Given the description of an element on the screen output the (x, y) to click on. 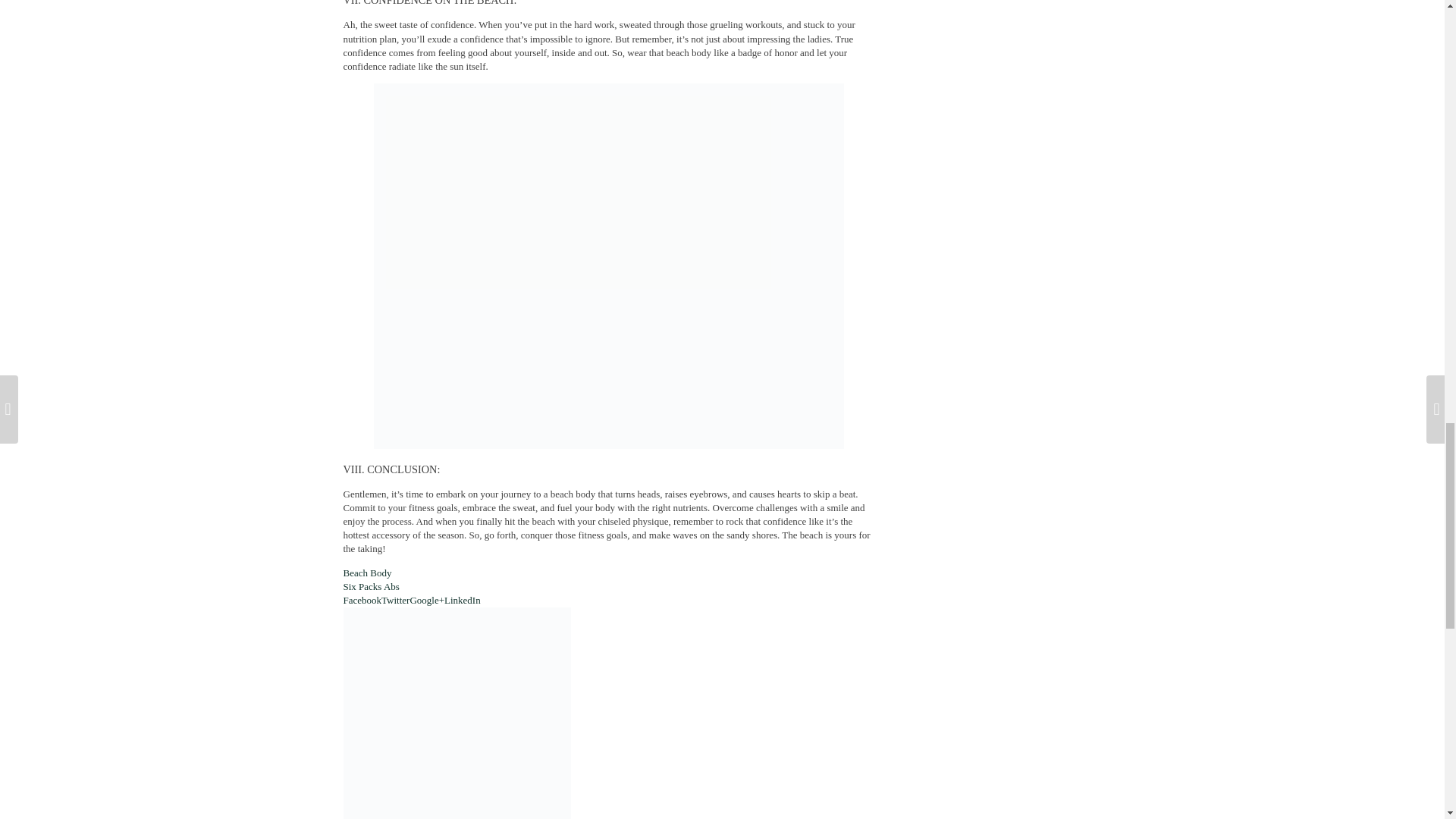
Facebook (361, 600)
Twitter (395, 600)
LinkedIn (462, 600)
Six Packs Abs (370, 586)
Twitter (395, 600)
Facebook (361, 600)
LinkedIn (462, 600)
Beach Body (366, 572)
